Given the description of an element on the screen output the (x, y) to click on. 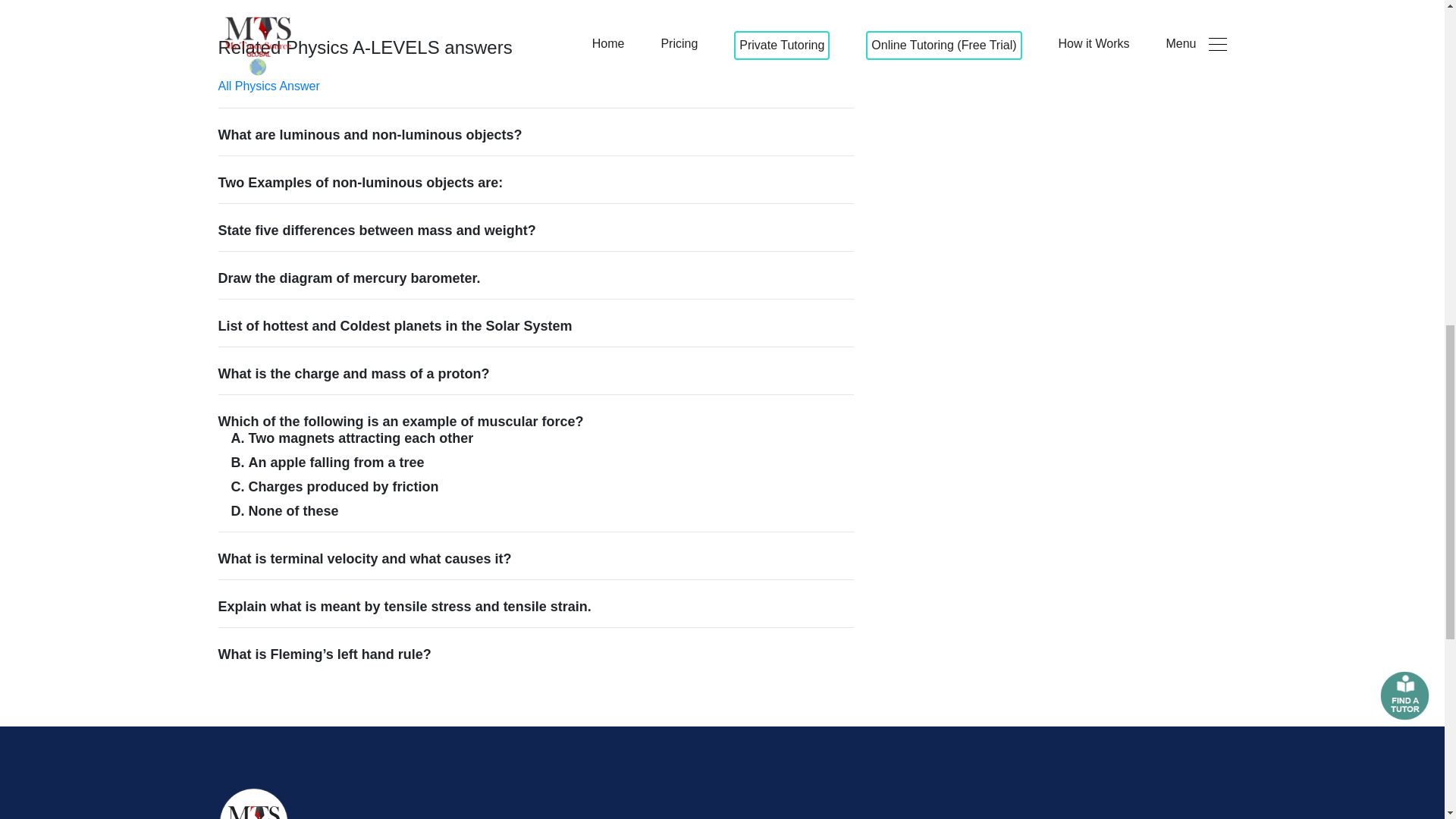
Two Examples of non-luminous objects are: (536, 182)
What are luminous and non-luminous objects? (536, 134)
All Physics Answer (269, 85)
